Given the description of an element on the screen output the (x, y) to click on. 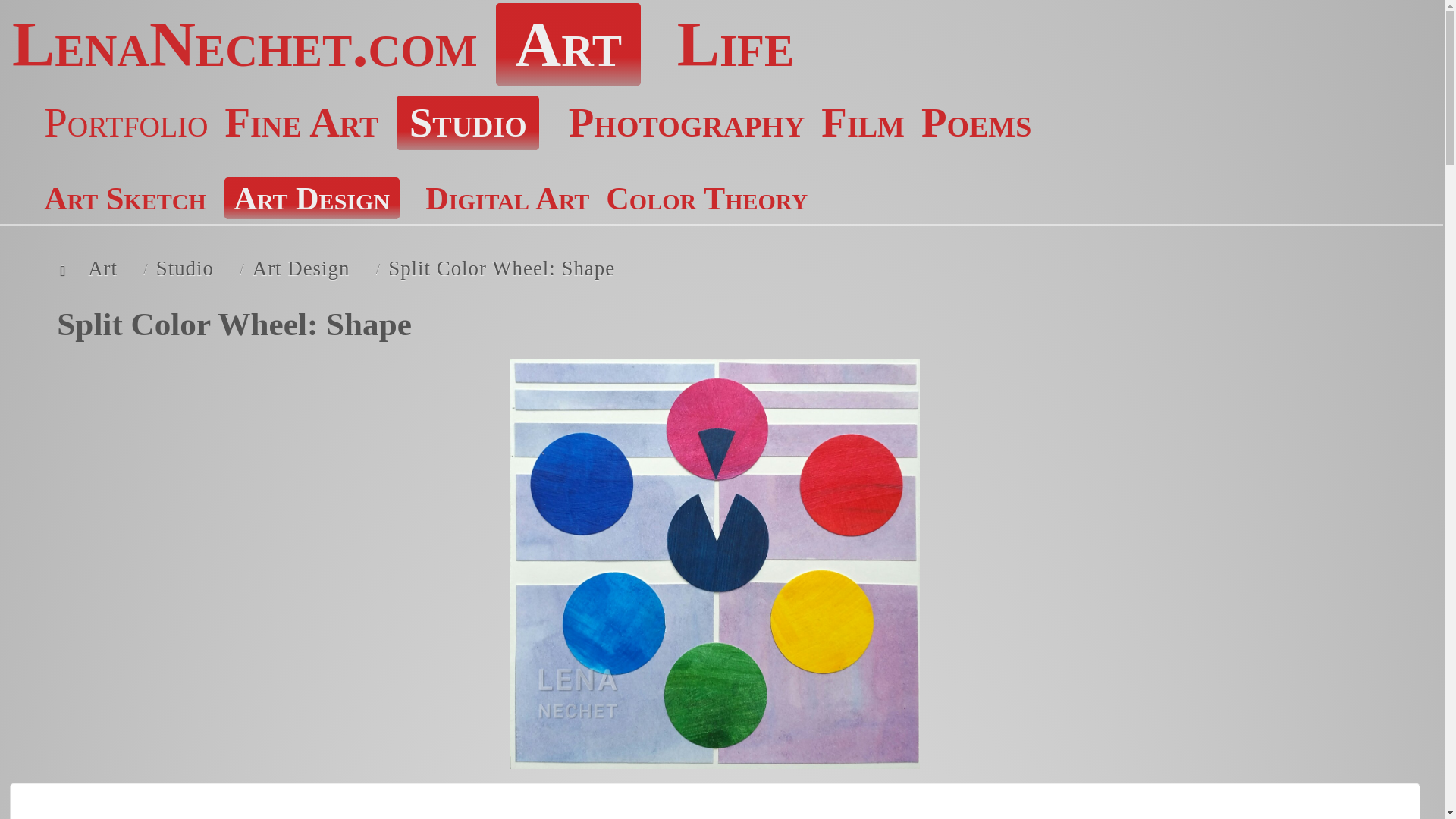
LenaNechet.com (244, 44)
Studio (467, 122)
Art Studio (467, 122)
Introduction and about me (735, 44)
Photography (687, 122)
Art (569, 44)
Fine art, film, photography - art by Lena Nechet (569, 44)
Life (735, 44)
Start Page (244, 44)
Fine Art (301, 122)
Portfolio (125, 122)
Film (862, 122)
